Given the description of an element on the screen output the (x, y) to click on. 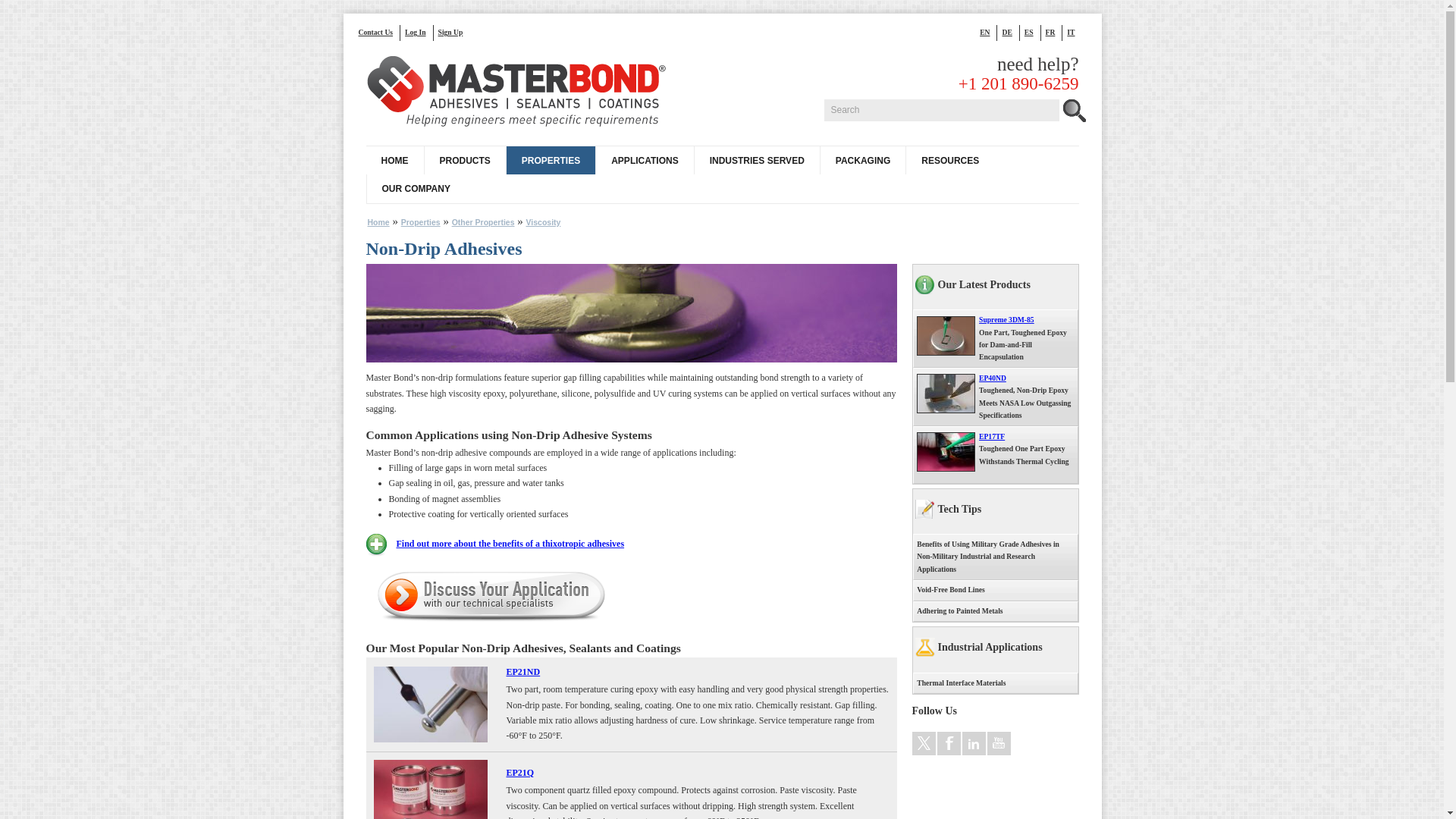
ES (1033, 32)
PROPERTIES (550, 160)
Contact Us (379, 32)
Enter the terms you wish to search for. (941, 110)
Sign Up (454, 32)
DE (1010, 32)
HOME (394, 160)
Log In (418, 32)
Search (941, 110)
EN (988, 32)
Search (941, 110)
IT (1074, 32)
Home (517, 92)
PRODUCTS (464, 160)
FR (1053, 32)
